Given the description of an element on the screen output the (x, y) to click on. 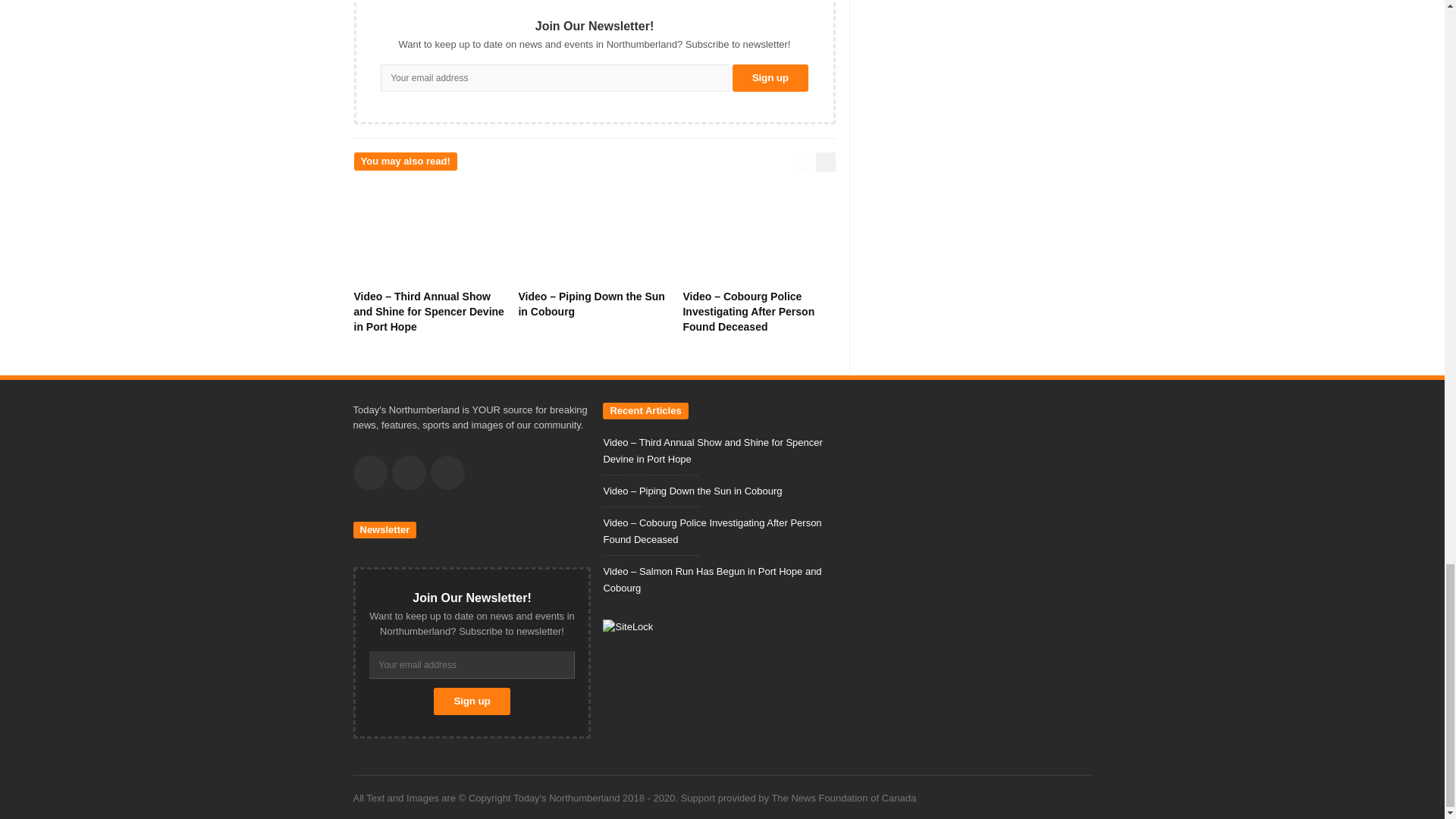
Facebook (370, 472)
Instagram (447, 472)
SiteLock (627, 626)
Sign up (471, 700)
Sign up (770, 77)
Twitter (408, 472)
